Given the description of an element on the screen output the (x, y) to click on. 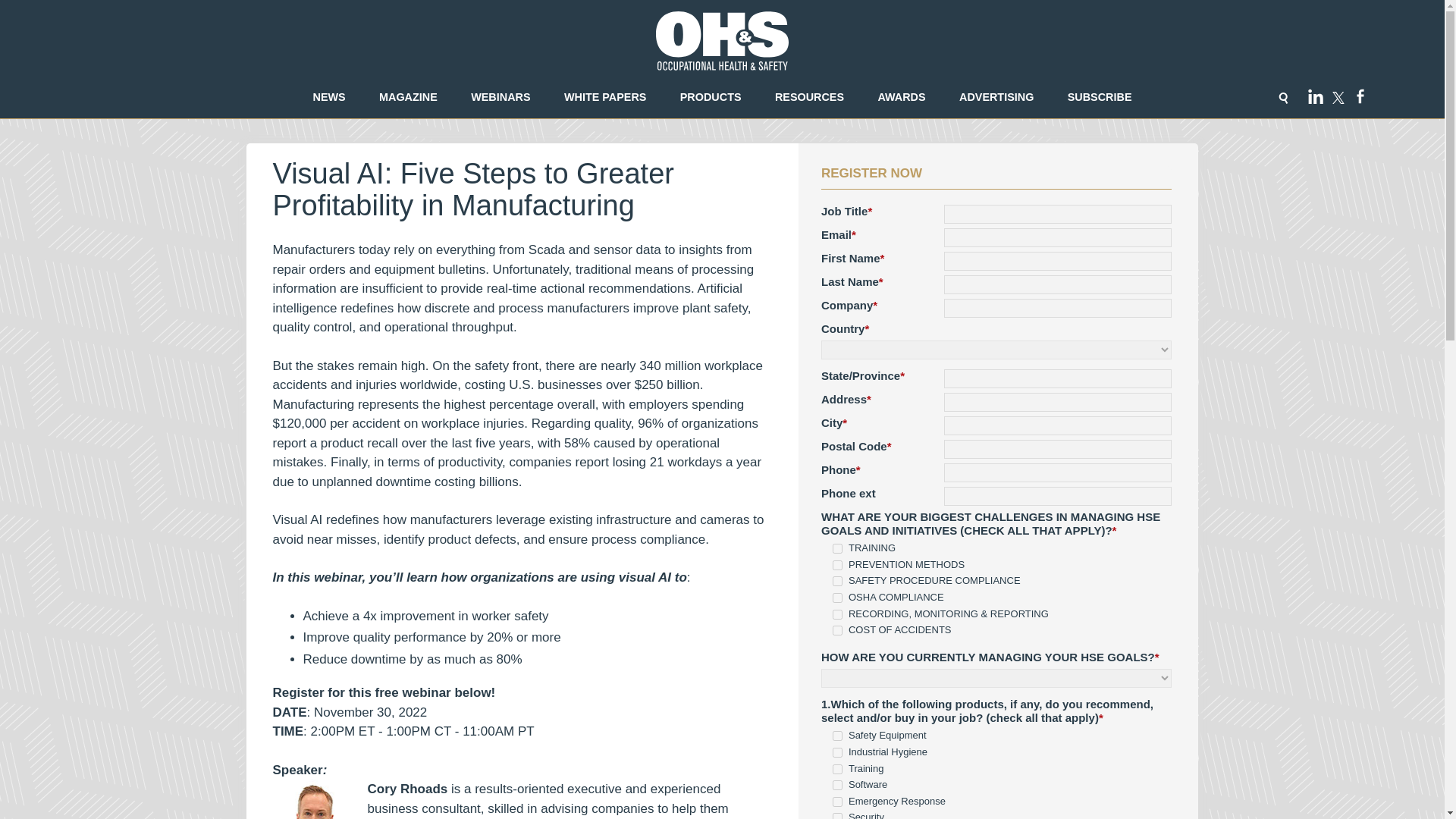
PRODUCTS (710, 96)
WHITE PAPERS (605, 96)
NEWS (328, 96)
AWARDS (901, 96)
ADVERTISING (996, 96)
MAGAZINE (408, 96)
RESOURCES (809, 96)
WEBINARS (500, 96)
